Given the description of an element on the screen output the (x, y) to click on. 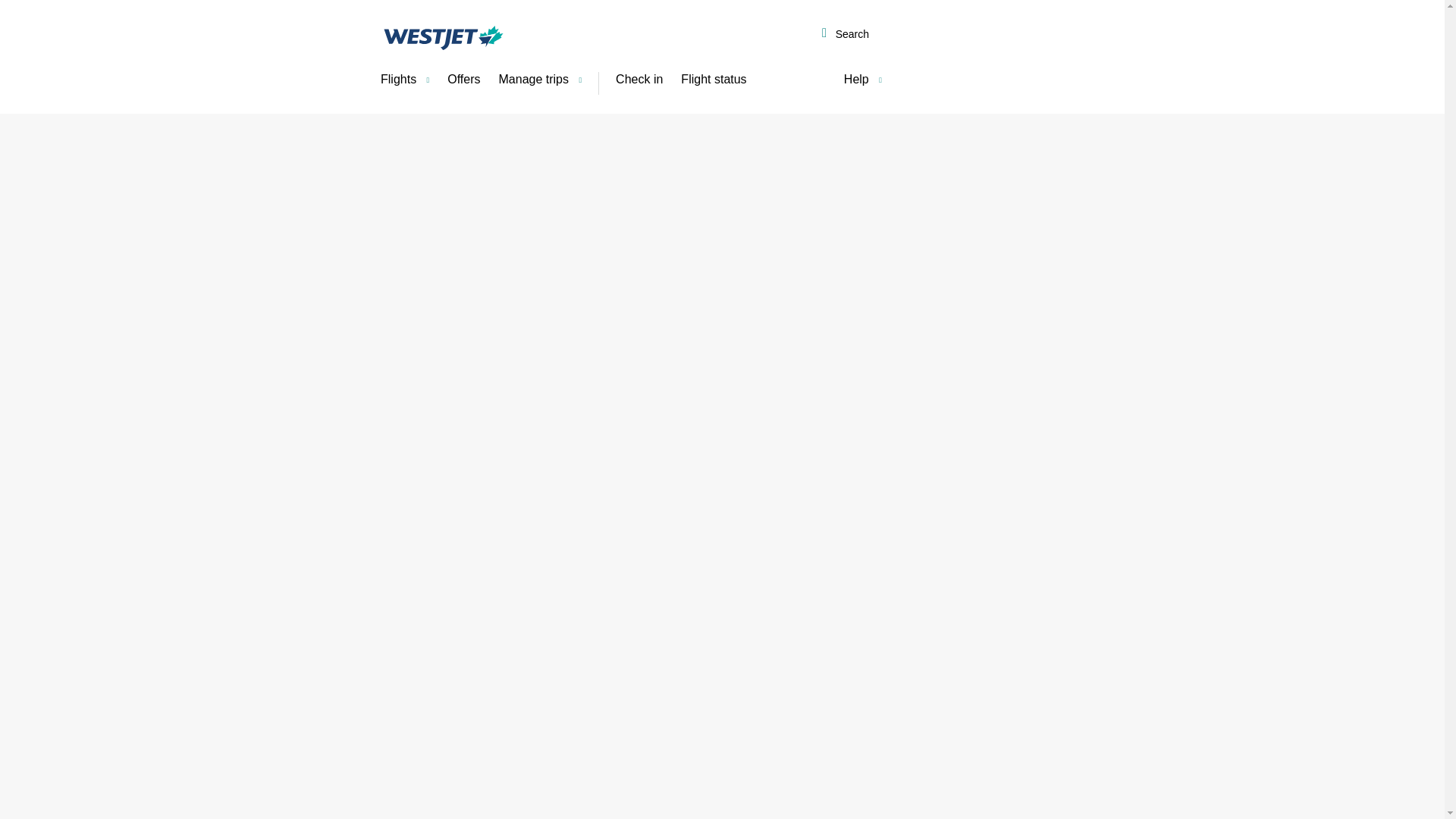
Offers (463, 79)
Search (845, 34)
Flight status (713, 79)
Navigate to the homepage (443, 37)
Flights (404, 79)
Manage trips (540, 79)
Check in (639, 79)
Help (862, 79)
